Given the description of an element on the screen output the (x, y) to click on. 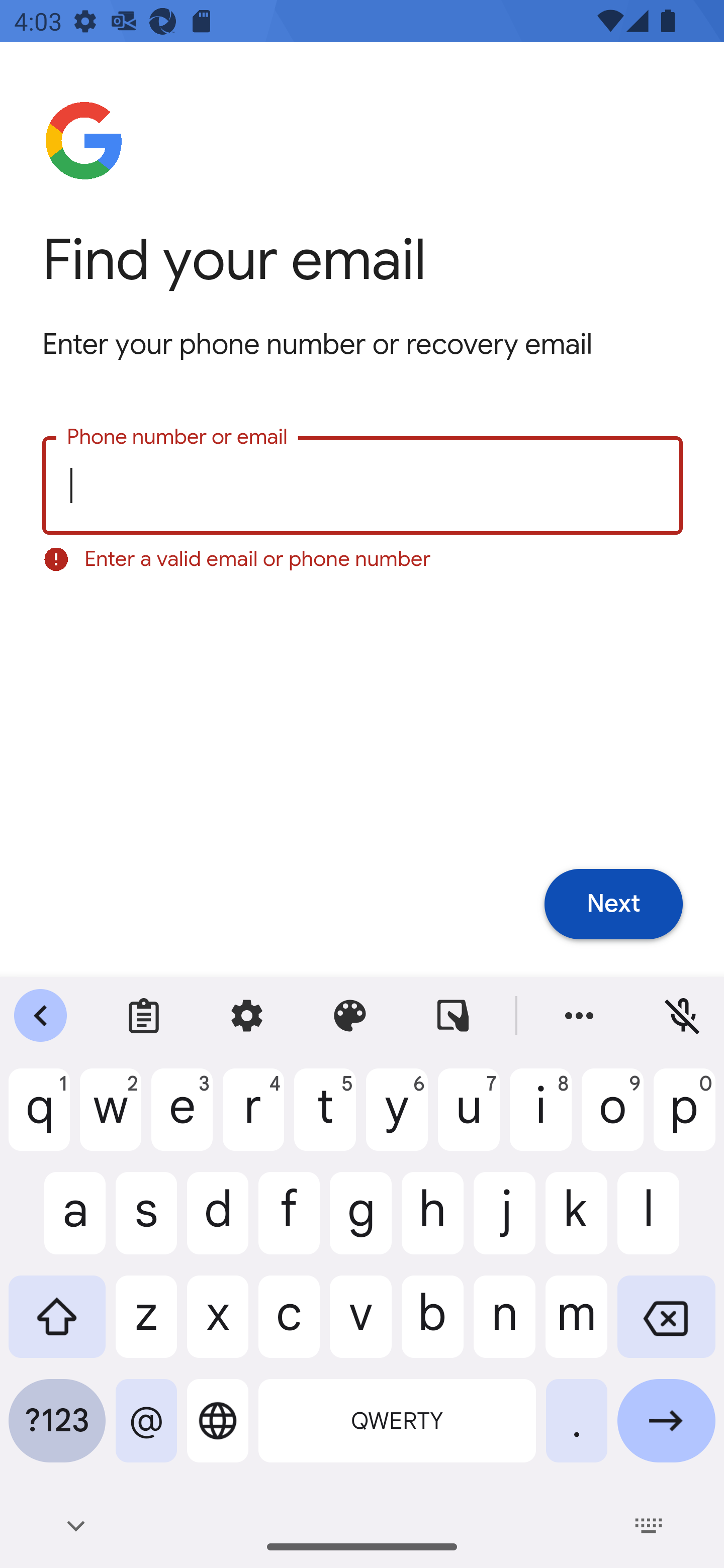
Next (613, 904)
